Given the description of an element on the screen output the (x, y) to click on. 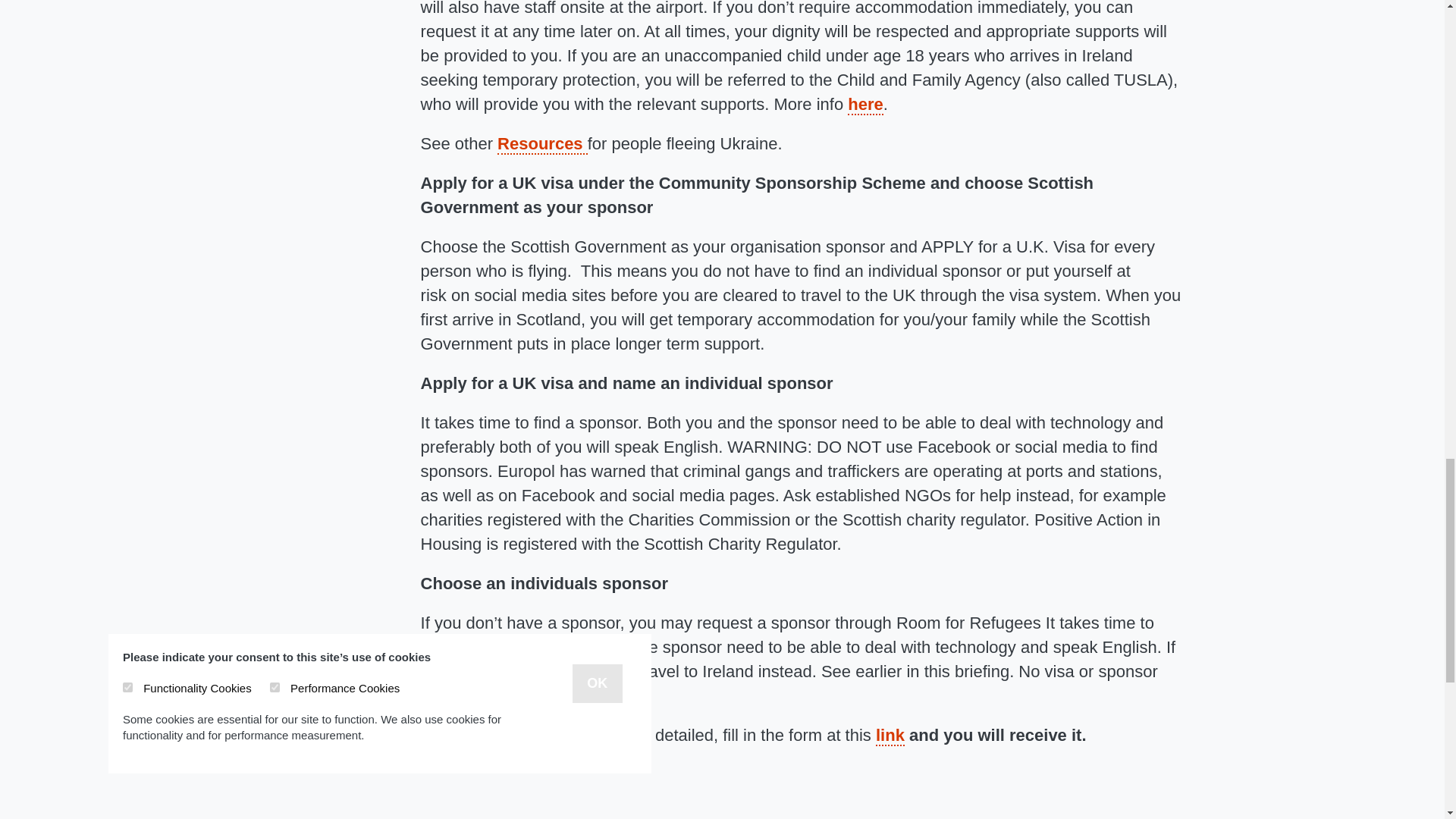
here (864, 105)
Resources (542, 144)
Mark These Words (347, 813)
MARK THESE WORDS (347, 813)
link (890, 735)
